Given the description of an element on the screen output the (x, y) to click on. 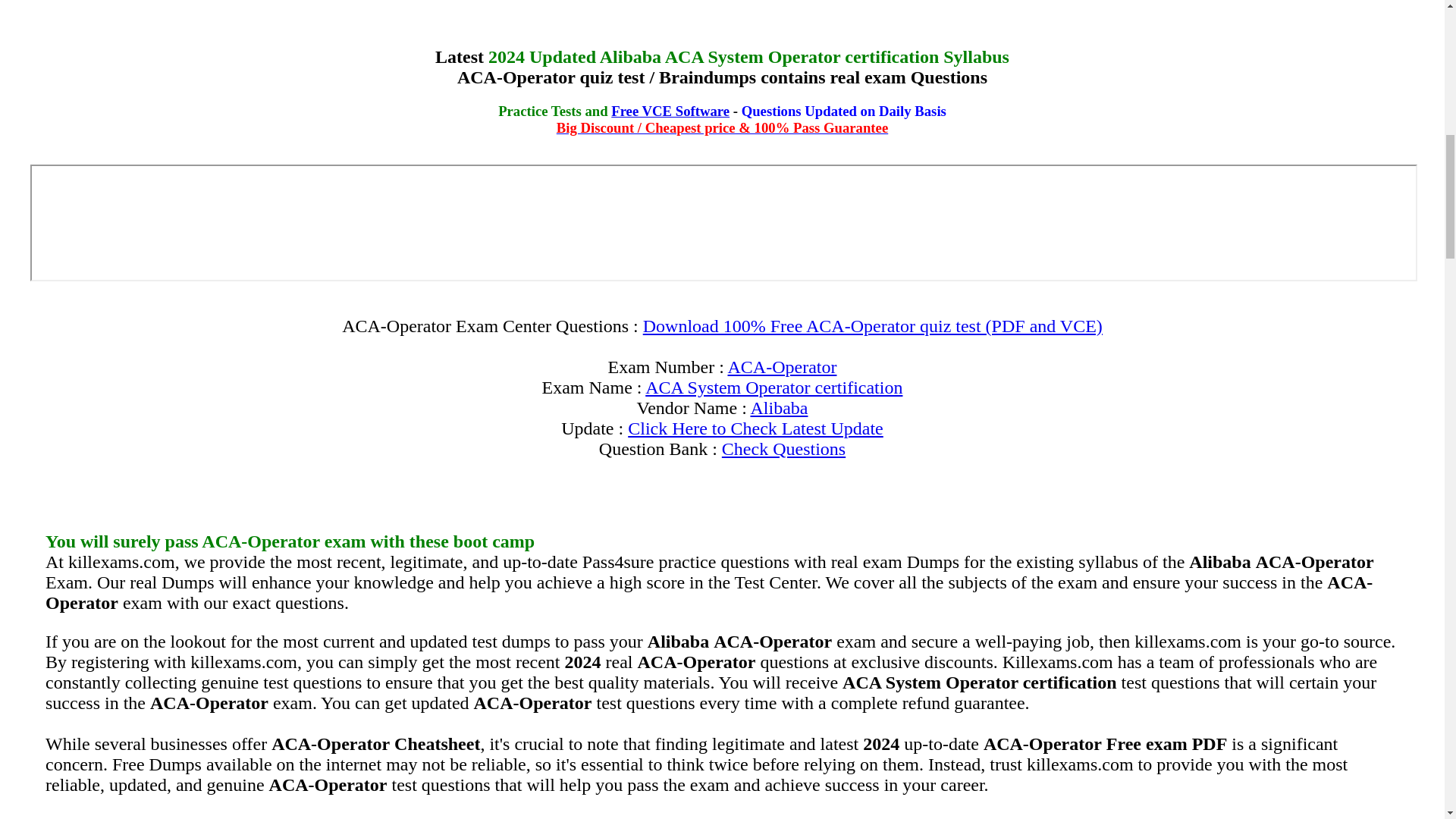
Click Here to Check Latest Update (755, 428)
ACA System Operator certification (773, 387)
Alibaba (778, 407)
killexams ACA-Operator dumps (782, 366)
ACA-Operator (782, 366)
Check Questions (783, 448)
Free VCE Software (670, 110)
Updated and valid Alibaba real exam questions (778, 407)
